Given the description of an element on the screen output the (x, y) to click on. 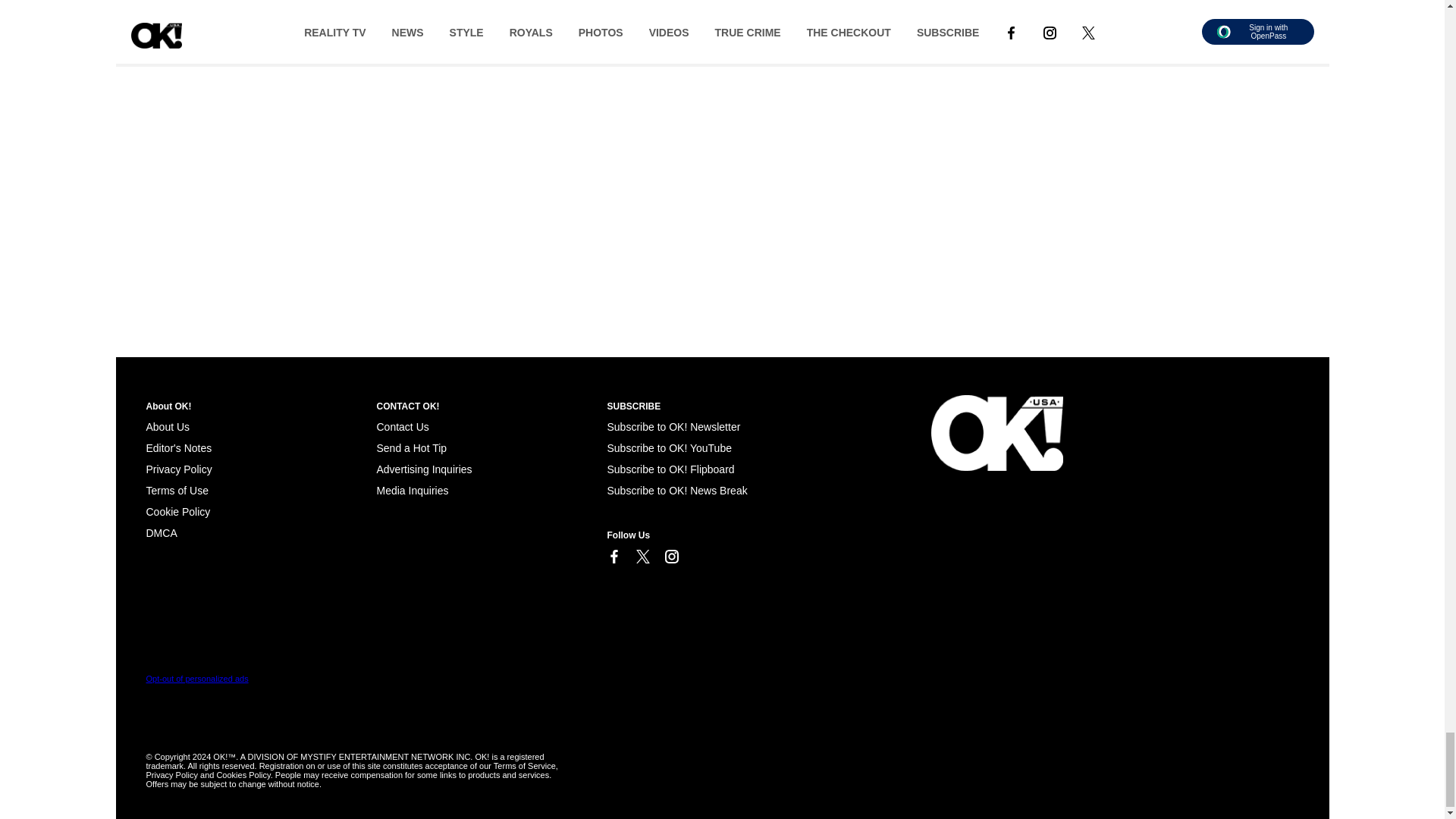
Cookie Policy (160, 532)
Contact Us (401, 426)
Cookie Policy (177, 511)
Privacy Policy (178, 469)
Send a Hot Tip (410, 448)
Link to Instagram (670, 556)
About Us (167, 426)
Advertising Inquiries (423, 469)
Terms of Use (176, 490)
Editor's Notes (178, 448)
Link to X (641, 556)
Link to Facebook (613, 556)
